Given the description of an element on the screen output the (x, y) to click on. 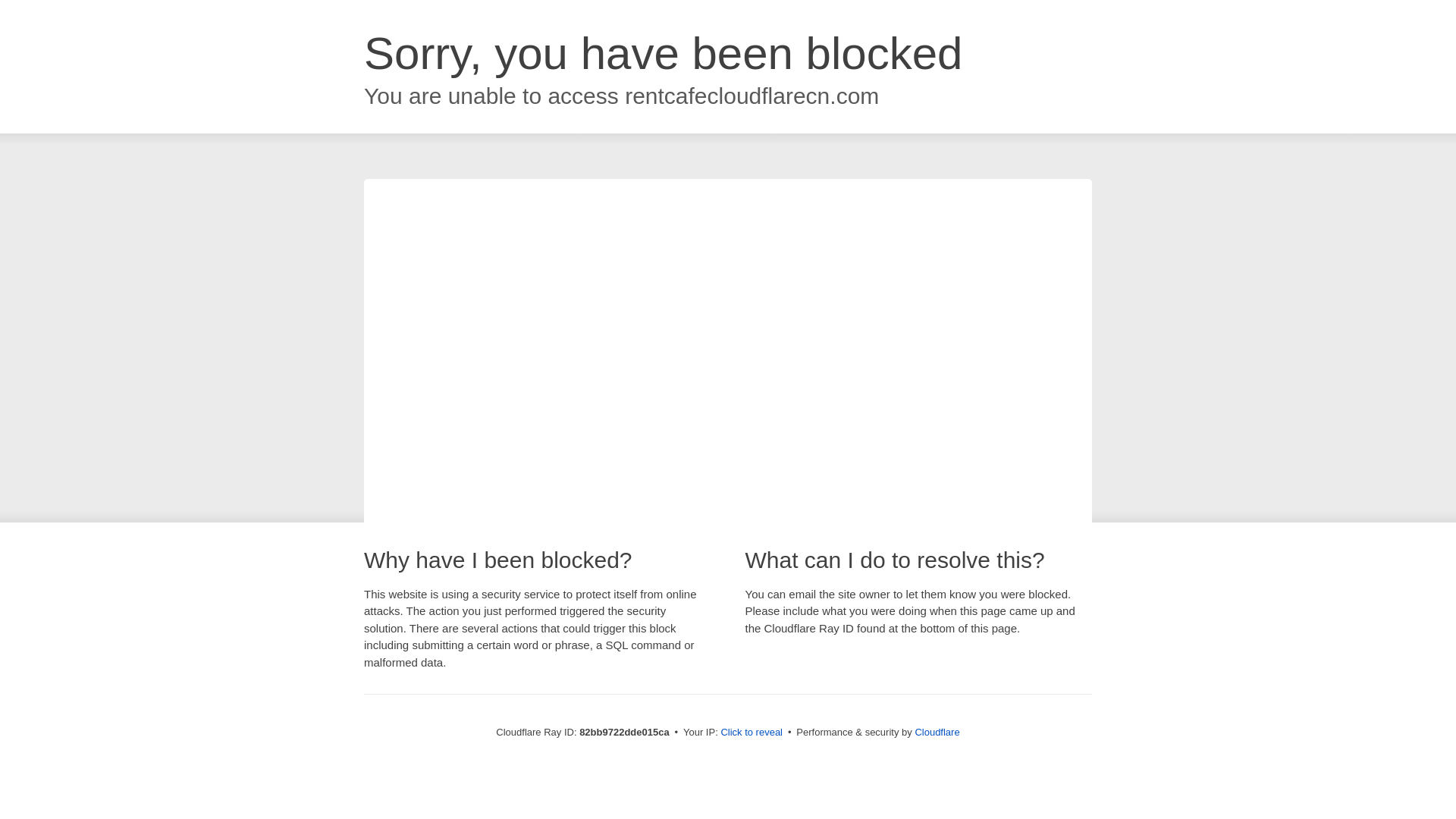
Click to reveal Element type: text (751, 732)
Cloudflare Element type: text (936, 731)
